Given the description of an element on the screen output the (x, y) to click on. 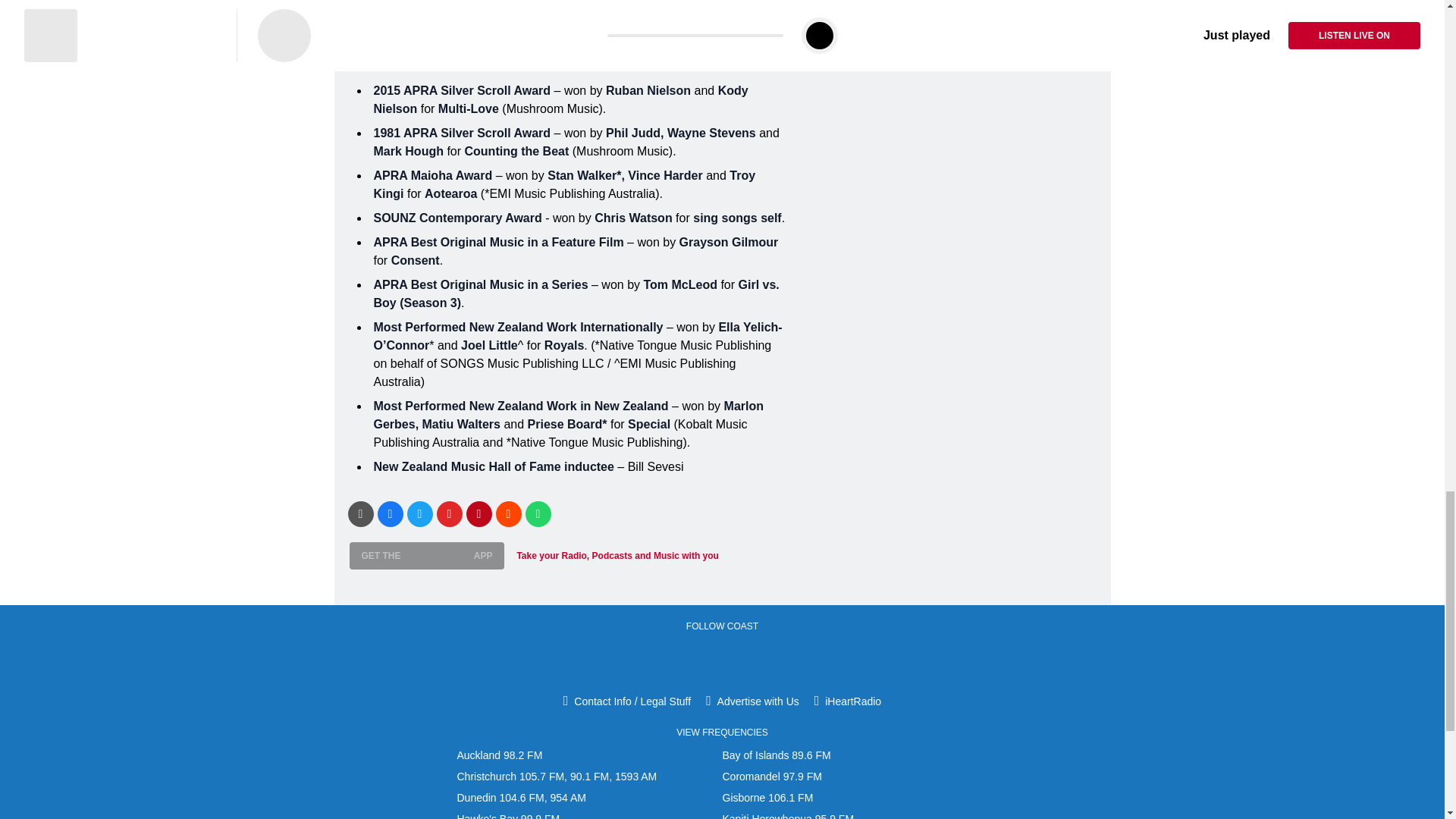
Share with facebook (390, 513)
Share with email (359, 513)
Share with flipboard (449, 513)
Share with reddit (508, 513)
Share with whatsapp (537, 513)
Share with twitter (419, 513)
Share with pinterest (478, 513)
